Given the description of an element on the screen output the (x, y) to click on. 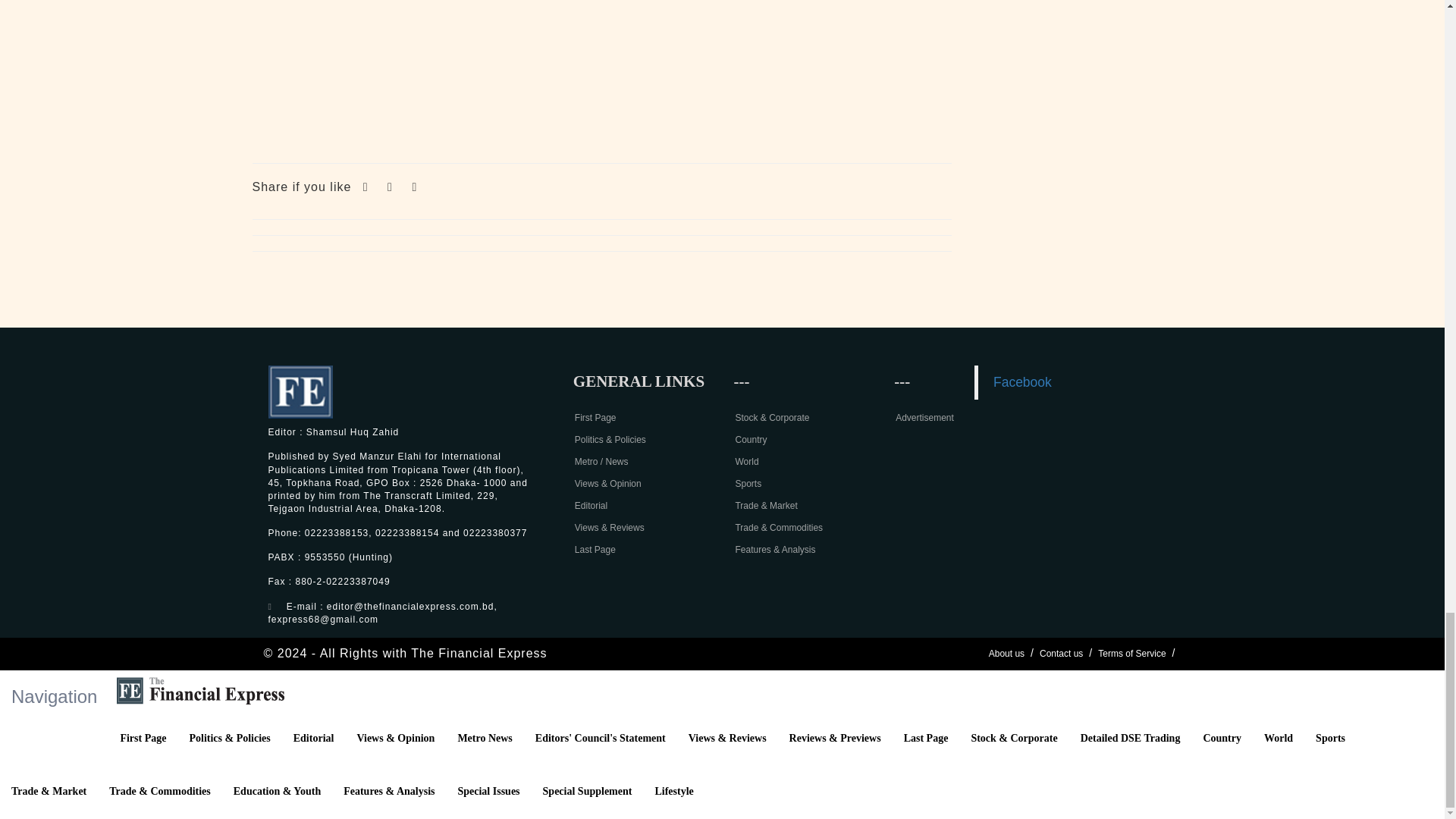
Advertisement (601, 74)
First Page (595, 417)
